Given the description of an element on the screen output the (x, y) to click on. 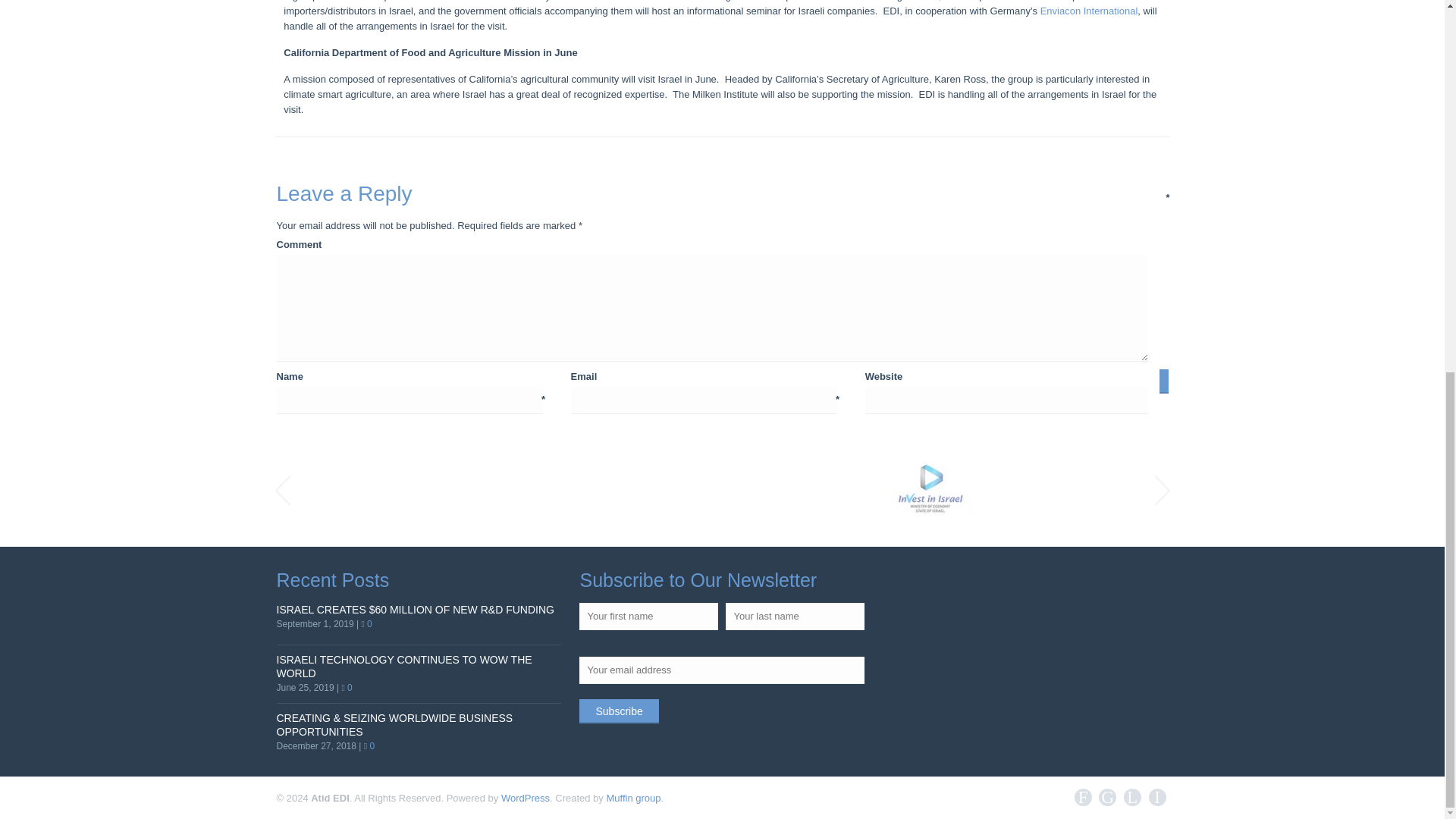
Invest In Israel (930, 489)
Post Comment (1117, 381)
Subscribe (618, 711)
